Given the description of an element on the screen output the (x, y) to click on. 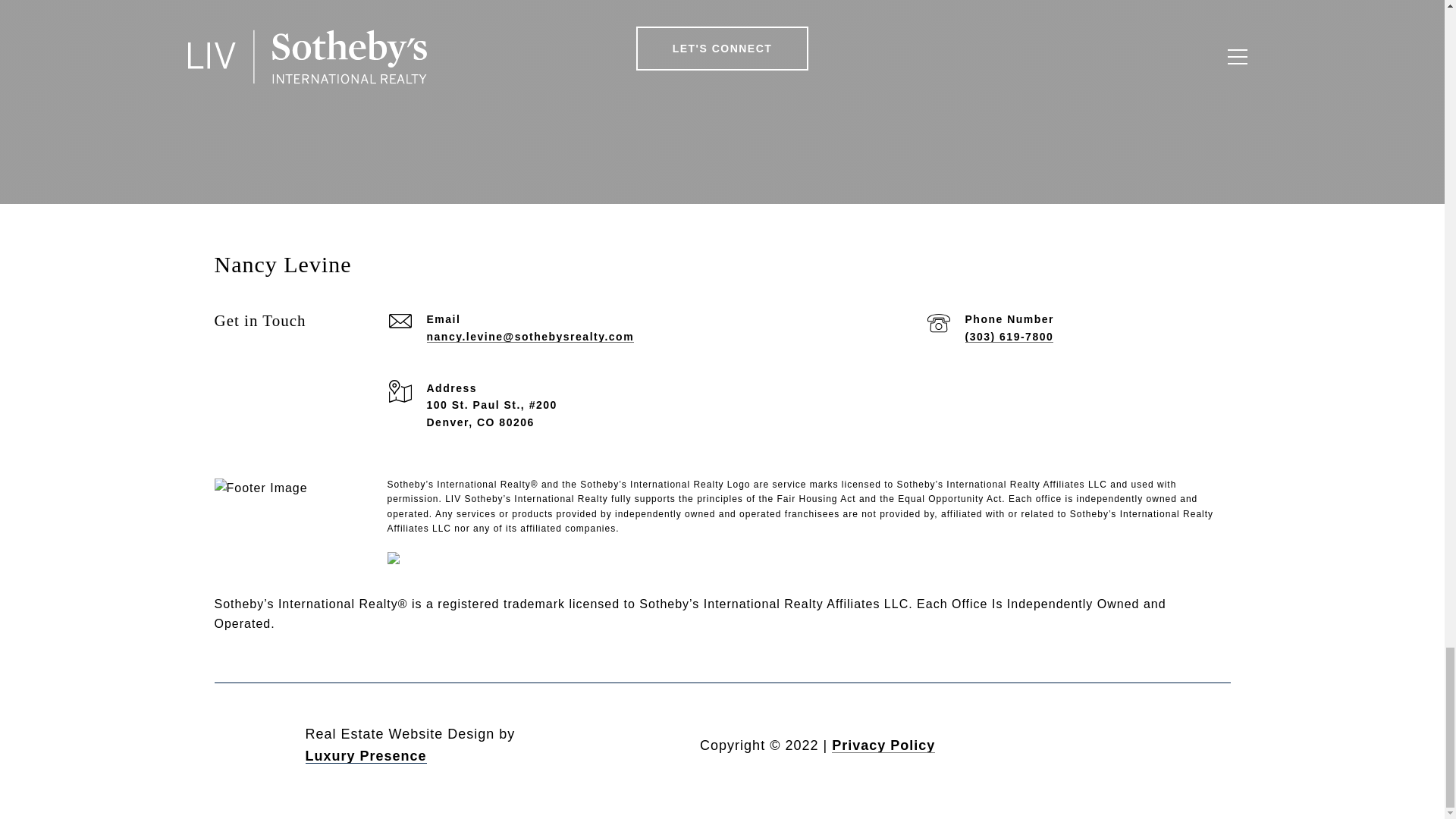
LET'S CONNECT (722, 48)
Privacy Policy (882, 744)
Luxury Presence (365, 755)
